Given the description of an element on the screen output the (x, y) to click on. 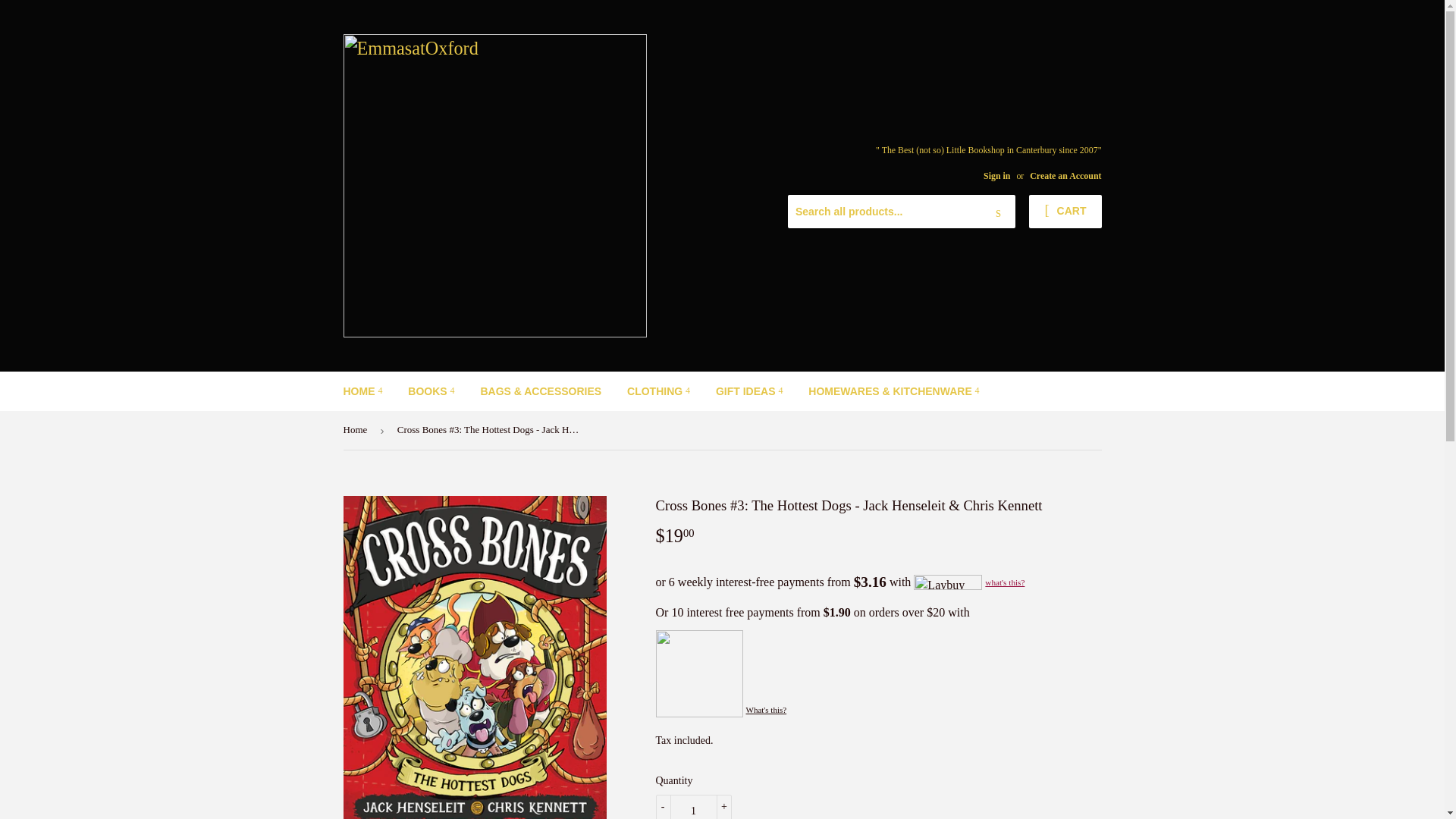
Create an Account (1064, 175)
1 (692, 806)
Sign in (997, 175)
Search (997, 212)
CART (1064, 211)
